Given the description of an element on the screen output the (x, y) to click on. 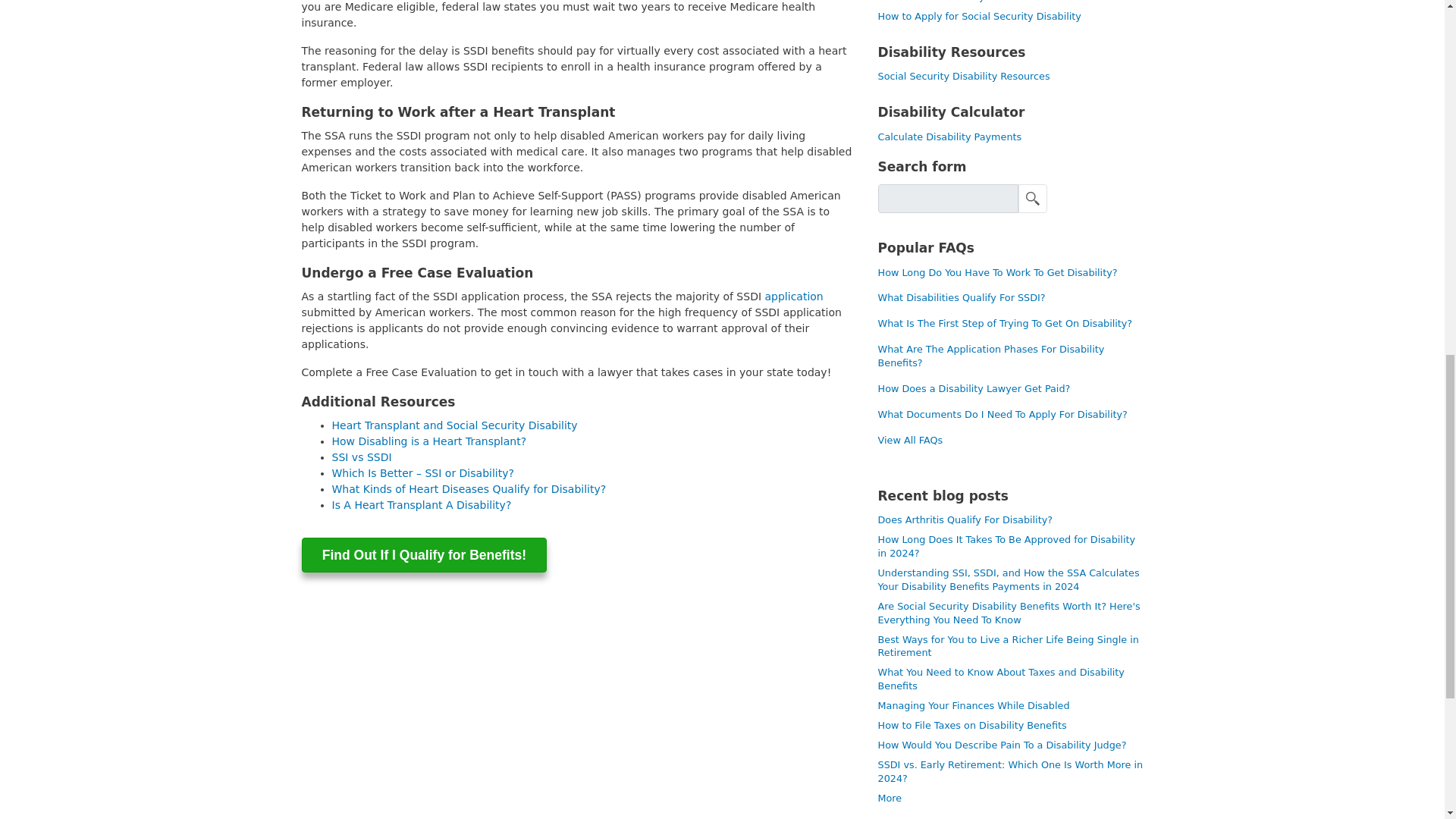
Enter the terms you wish to search for. (947, 198)
